Given the description of an element on the screen output the (x, y) to click on. 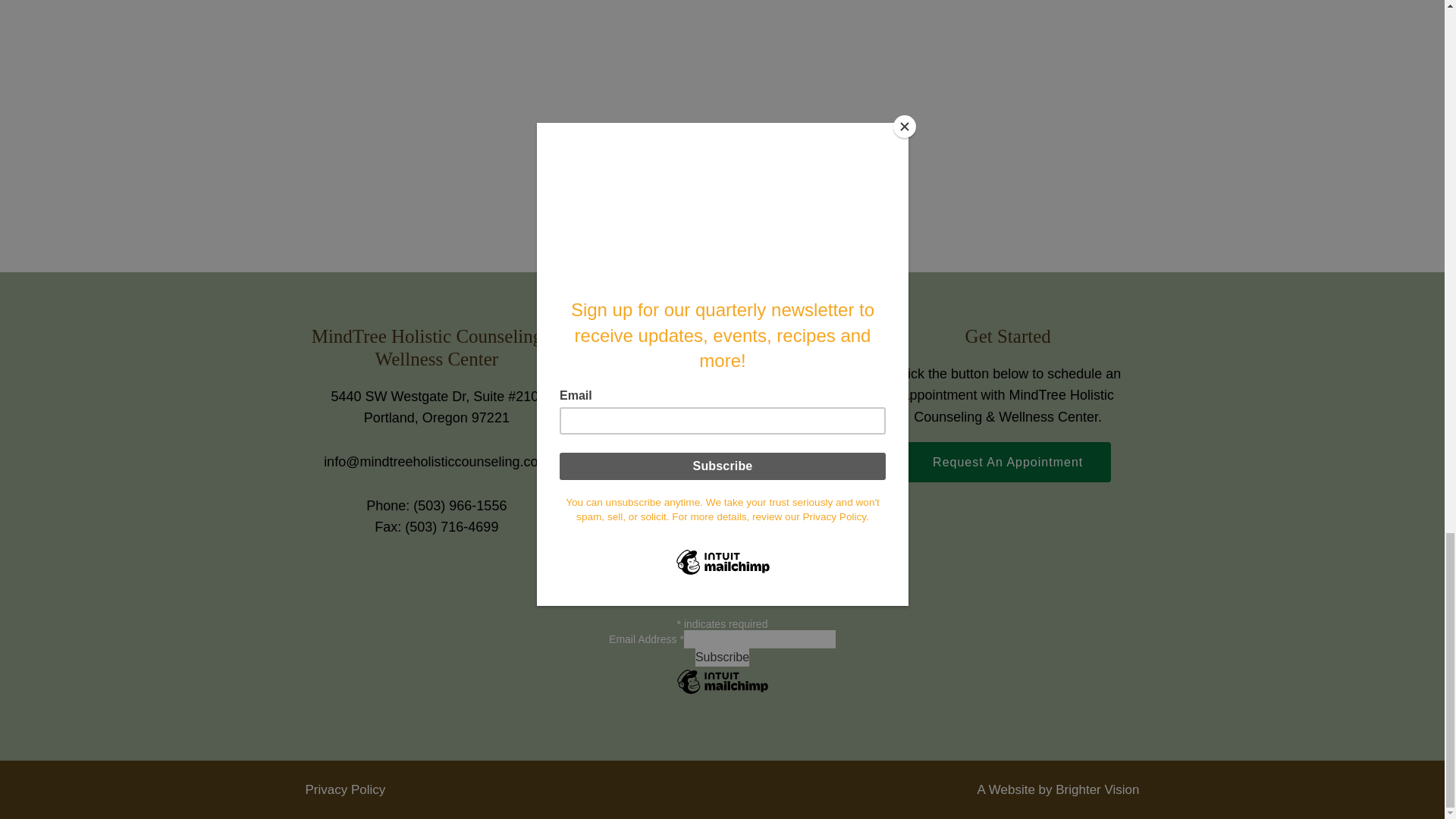
Mailchimp - email marketing made easy and fun (722, 692)
Subscribe (722, 657)
